Given the description of an element on the screen output the (x, y) to click on. 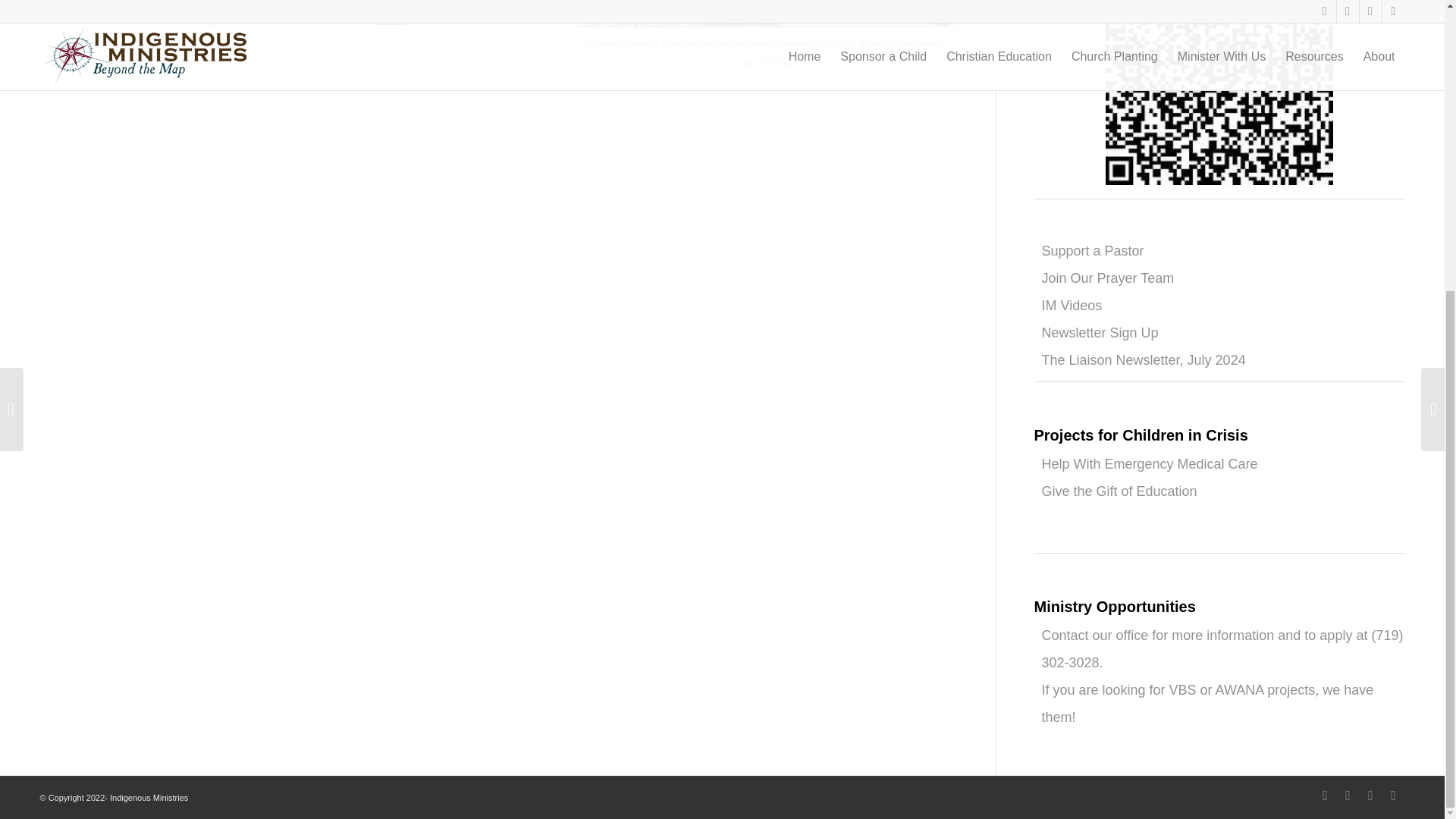
Help With Emergency Medical Care (1149, 463)
HERE (389, 19)
Newsletter Sign Up (1100, 332)
Give the Gift of Education (1119, 491)
Join Our Prayer Team (1108, 278)
IM Videos (1072, 305)
Support a Pastor (1093, 250)
The Liaison Newsletter, July 2024 (1144, 359)
